Given the description of an element on the screen output the (x, y) to click on. 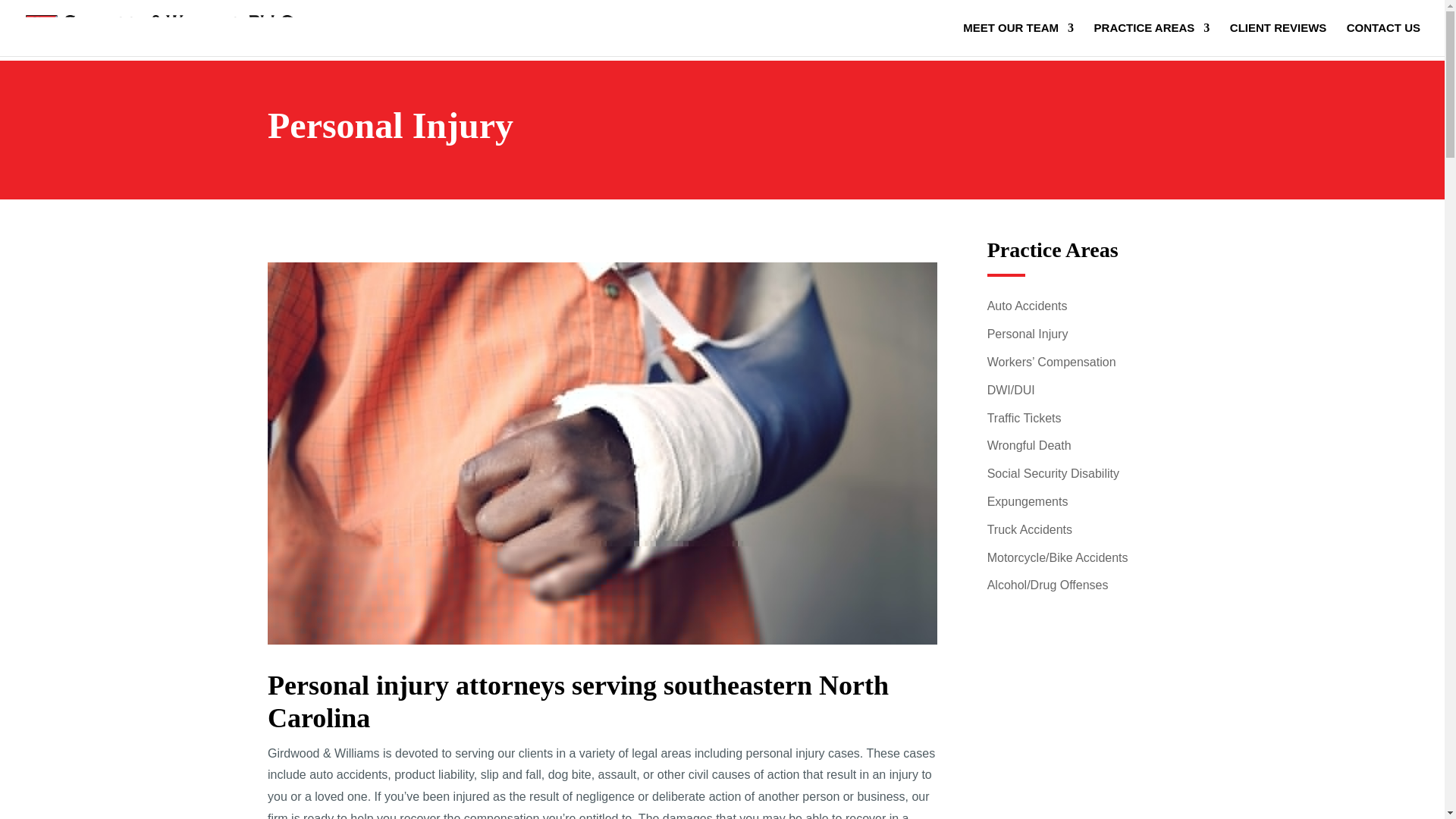
Expungements (1027, 501)
CONTACT US (1383, 39)
Truck Accidents (1029, 529)
CLIENT REVIEWS (1278, 39)
Traffic Tickets (1024, 418)
Auto Accidents (1027, 305)
Social Security Disability (1053, 472)
MEET OUR TEAM (1018, 39)
Wrongful Death (1029, 445)
Personal Injury (1027, 333)
PRACTICE AREAS (1151, 39)
